Given the description of an element on the screen output the (x, y) to click on. 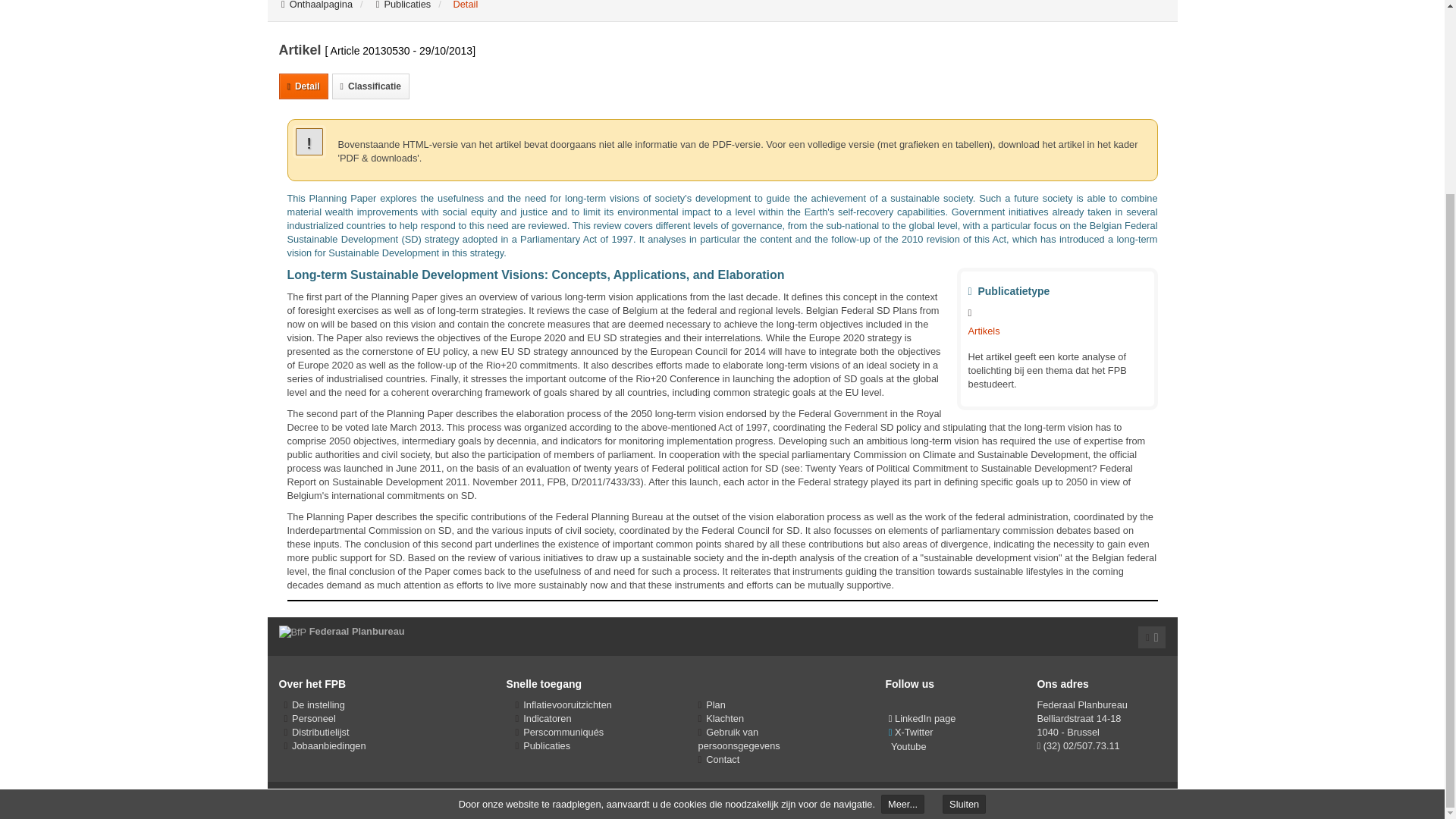
Top of page (1152, 637)
Follow us on X (910, 731)
Visit our Linkedin page (922, 717)
Follow us on Youtube (907, 746)
